Given the description of an element on the screen output the (x, y) to click on. 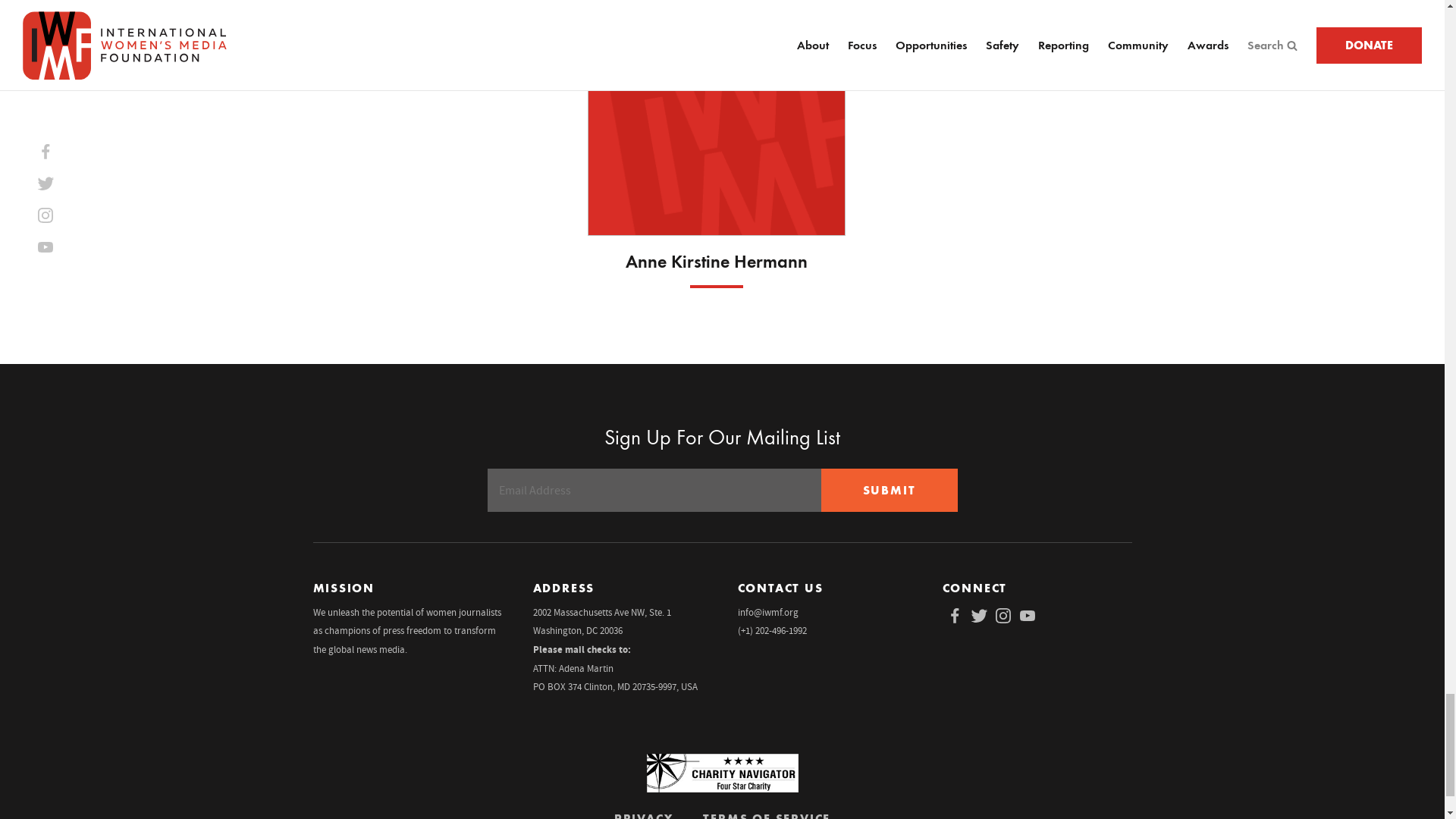
Submit (888, 489)
